Given the description of an element on the screen output the (x, y) to click on. 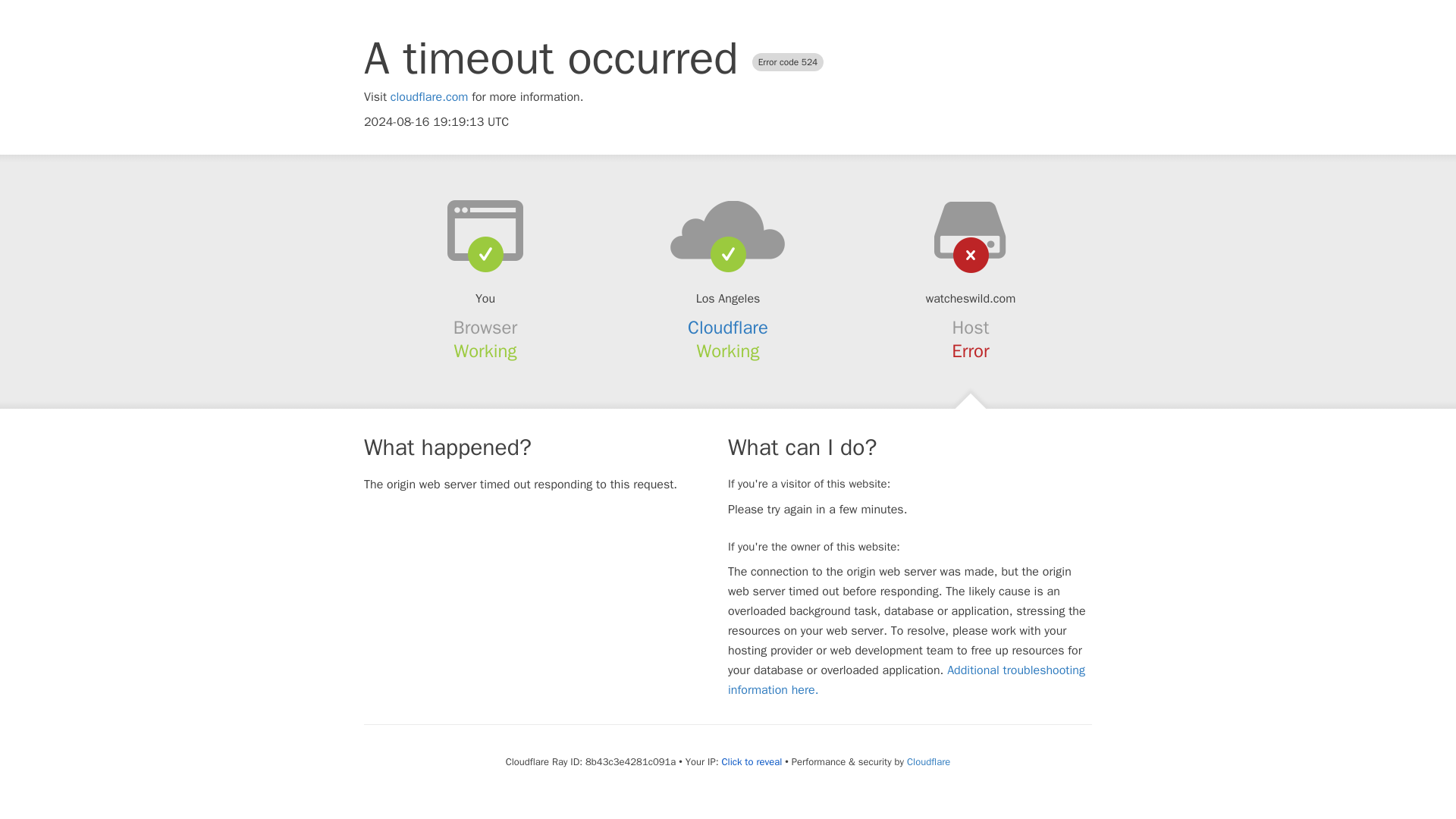
Cloudflare (727, 327)
cloudflare.com (429, 96)
Additional troubleshooting information here. (906, 679)
Click to reveal (750, 762)
Cloudflare (928, 761)
